Given the description of an element on the screen output the (x, y) to click on. 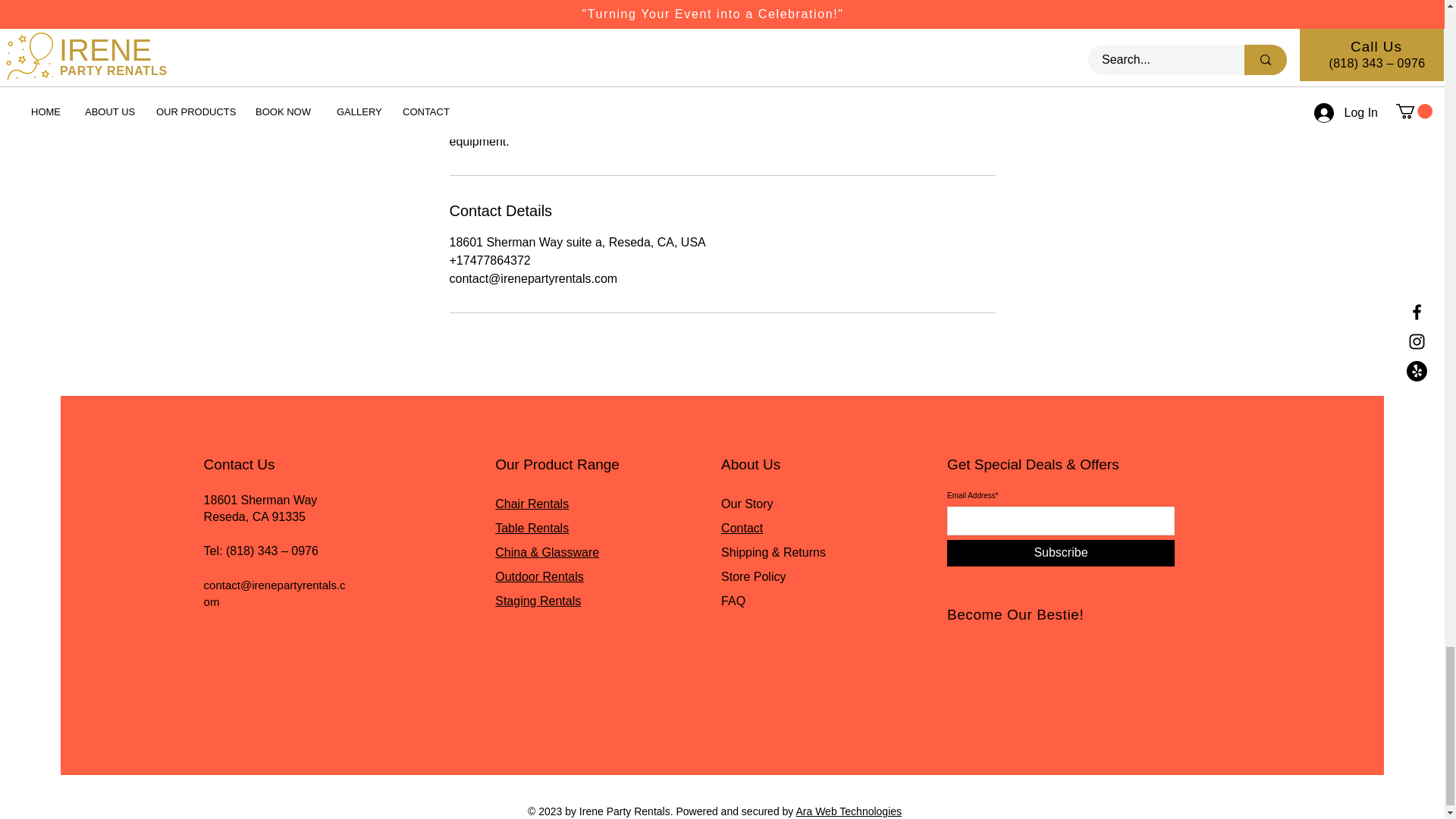
Store Policy (753, 576)
Contact (741, 527)
Chair Rentals (532, 503)
Our Story (746, 503)
Subscribe (1060, 552)
FAQ (732, 600)
Ara Web Technologies (847, 811)
